Given the description of an element on the screen output the (x, y) to click on. 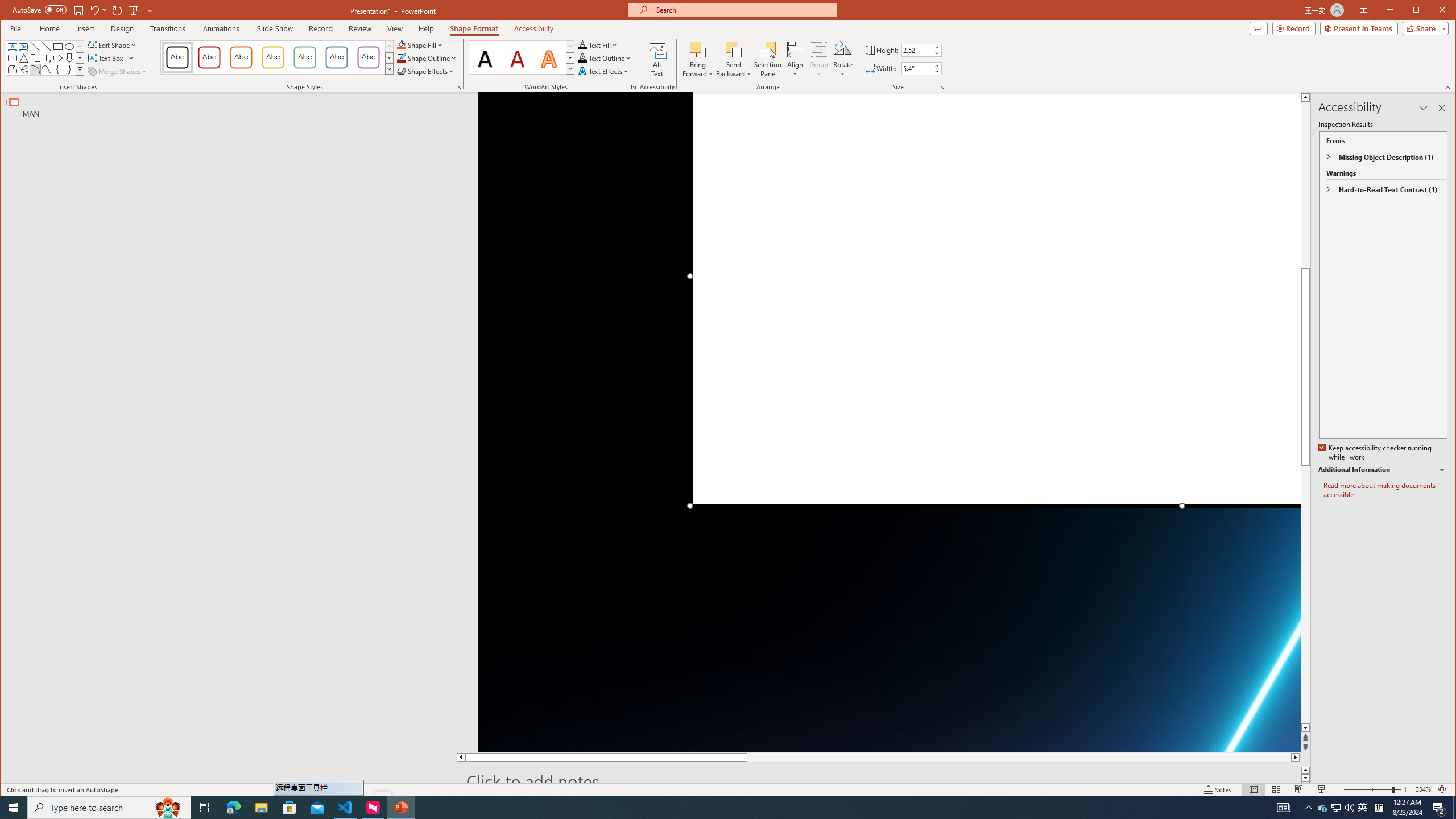
Zoom In (1405, 789)
Freeform: Shape (12, 69)
